Given the description of an element on the screen output the (x, y) to click on. 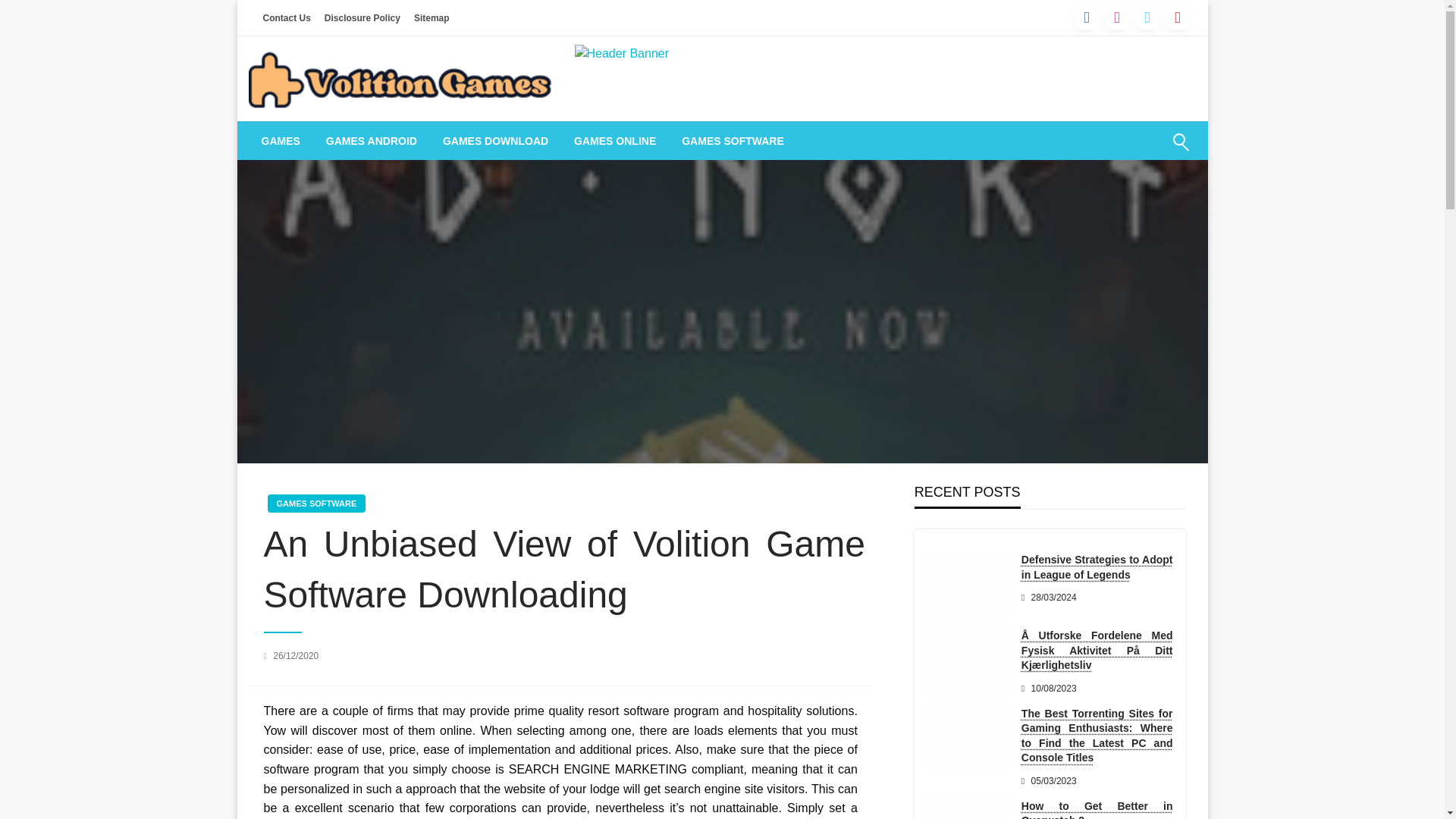
Contact Us (286, 17)
GAMES SOFTWARE (732, 140)
Search (1144, 151)
Disclosure Policy (362, 17)
GAMES SOFTWARE (315, 503)
GAMES ONLINE (614, 140)
Sitemap (432, 17)
GAMES (280, 140)
GAMES DOWNLOAD (494, 140)
